Given the description of an element on the screen output the (x, y) to click on. 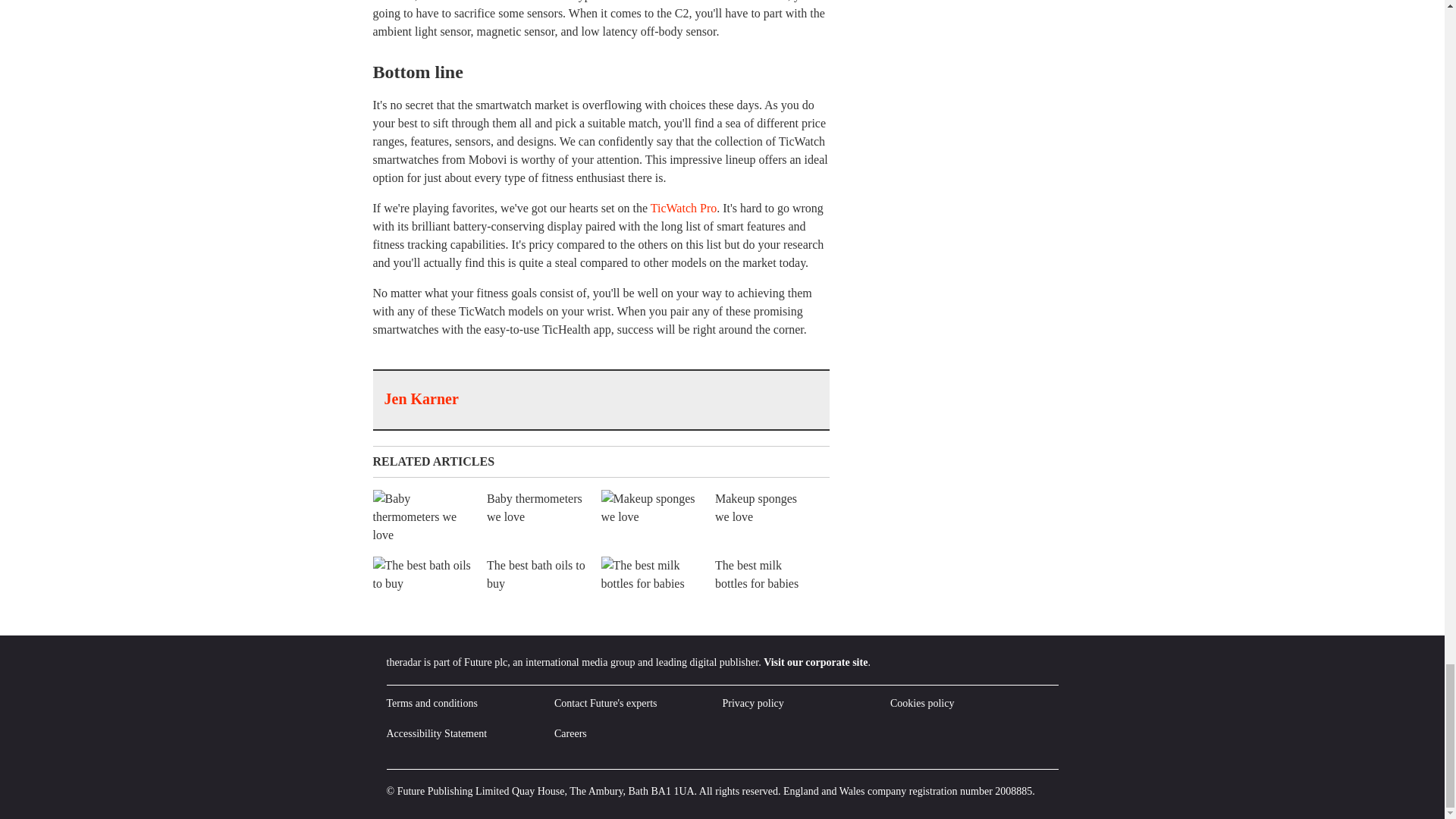
Baby thermometers we love (486, 516)
Jen Karner (421, 398)
TicWatch Pro (683, 207)
